Given the description of an element on the screen output the (x, y) to click on. 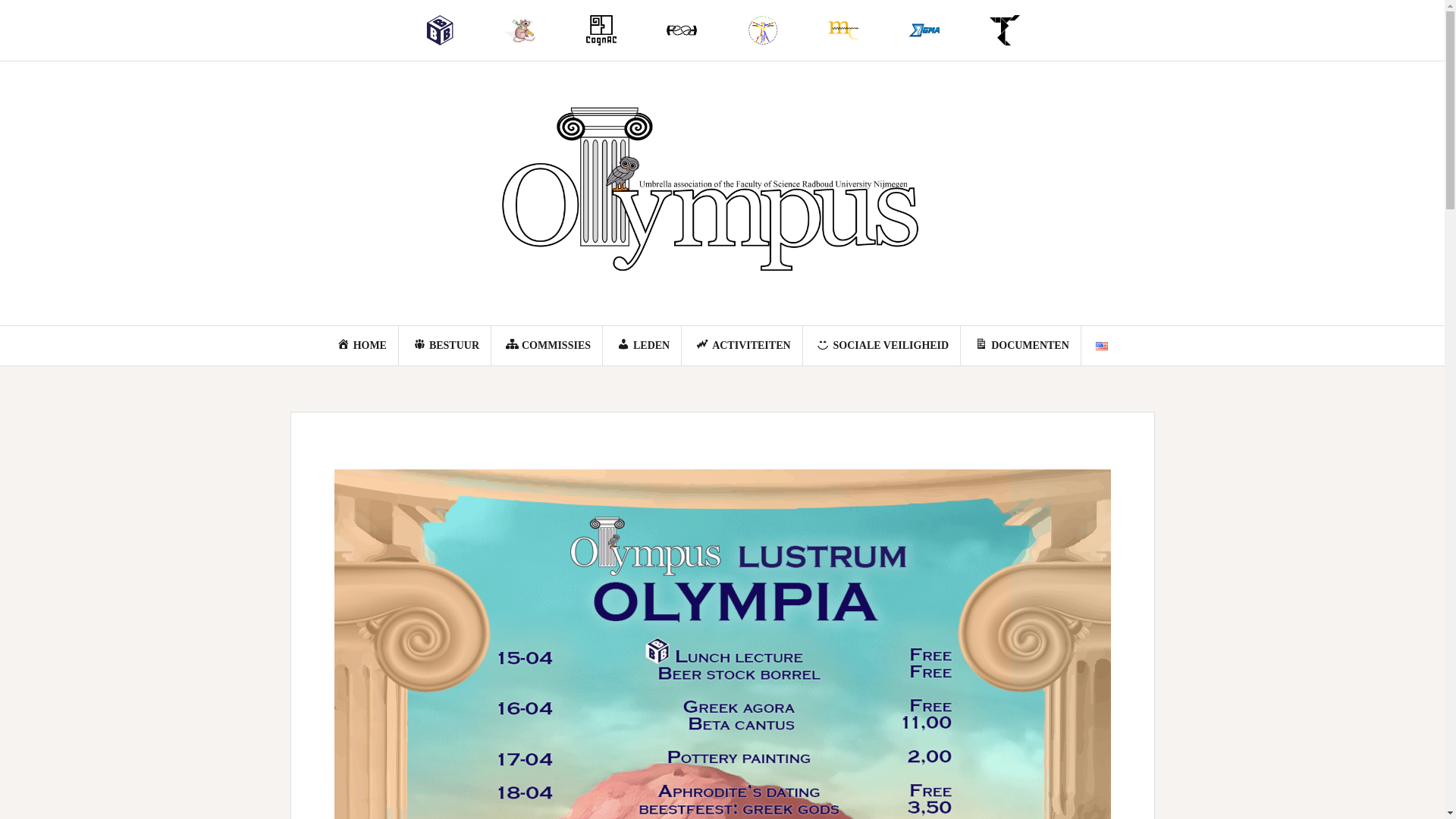
Marie Curie (843, 30)
BeeVee (520, 30)
Thalia (1005, 30)
ACTIVITEITEN (742, 345)
Desda (682, 30)
Leonardo da Vinci (762, 30)
HOME (361, 345)
CognAC (602, 30)
BESTUUR (446, 345)
COMMISSIES (548, 345)
Stichting Betabedrijvenbeurs (440, 30)
LEDEN (643, 345)
Sigma (923, 30)
SOCIALE VEILIGHEID (882, 345)
